Given the description of an element on the screen output the (x, y) to click on. 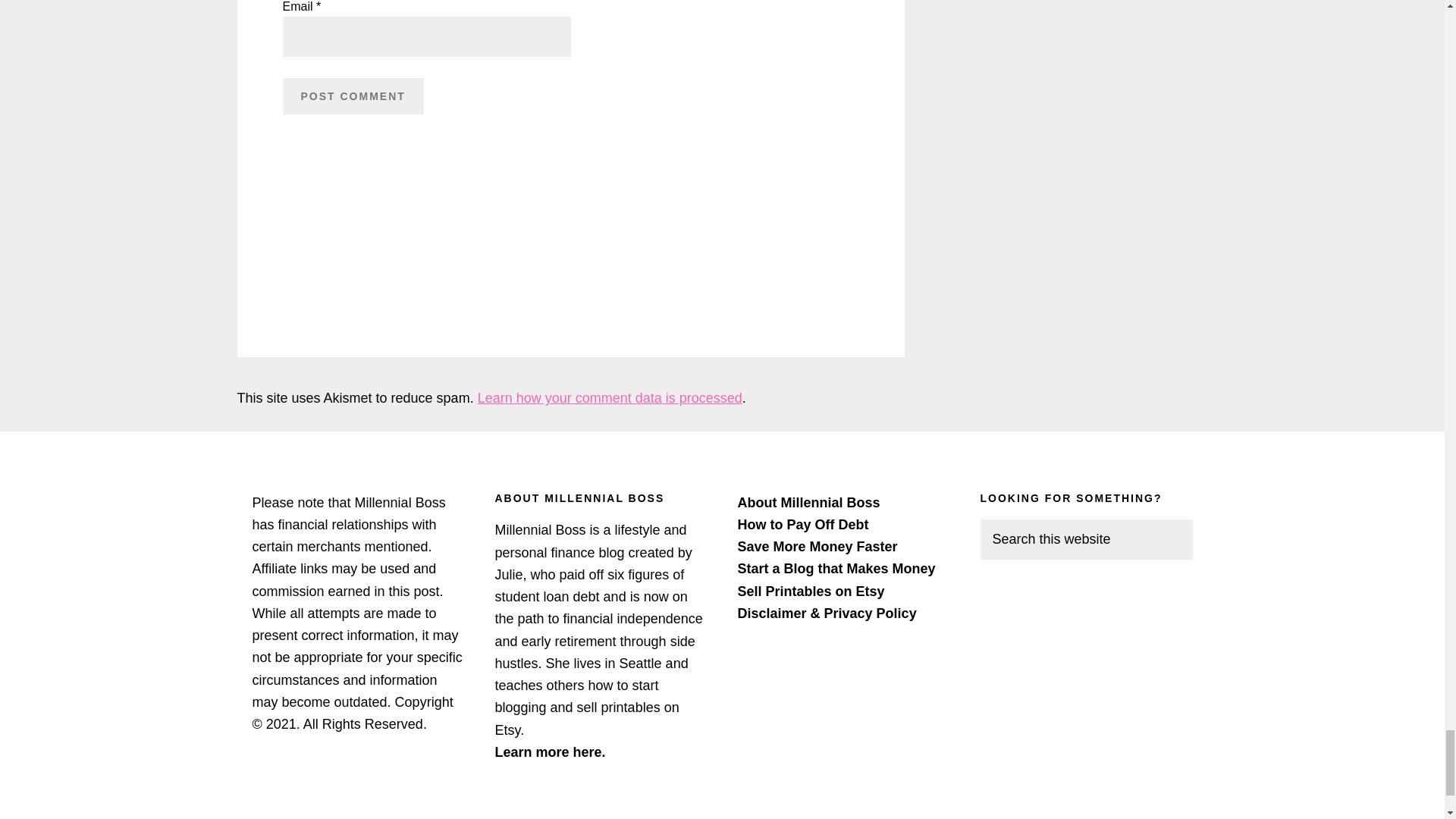
Post Comment (352, 95)
